Given the description of an element on the screen output the (x, y) to click on. 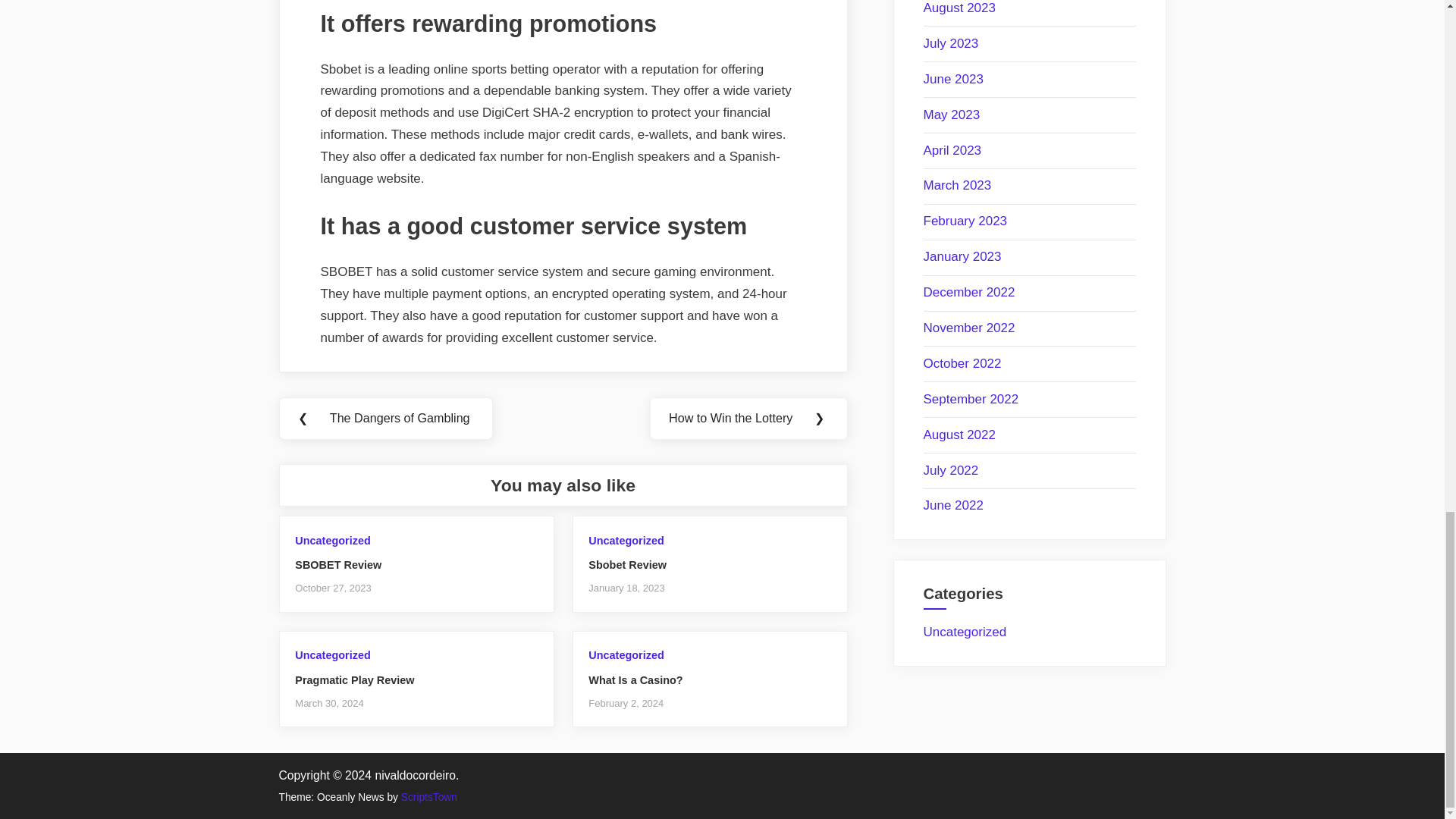
Sbobet Review (627, 564)
Pragmatic Play Review (354, 680)
Uncategorized (625, 654)
SBOBET Review (338, 564)
Uncategorized (625, 540)
Uncategorized (332, 540)
What Is a Casino? (635, 680)
Uncategorized (332, 654)
